Given the description of an element on the screen output the (x, y) to click on. 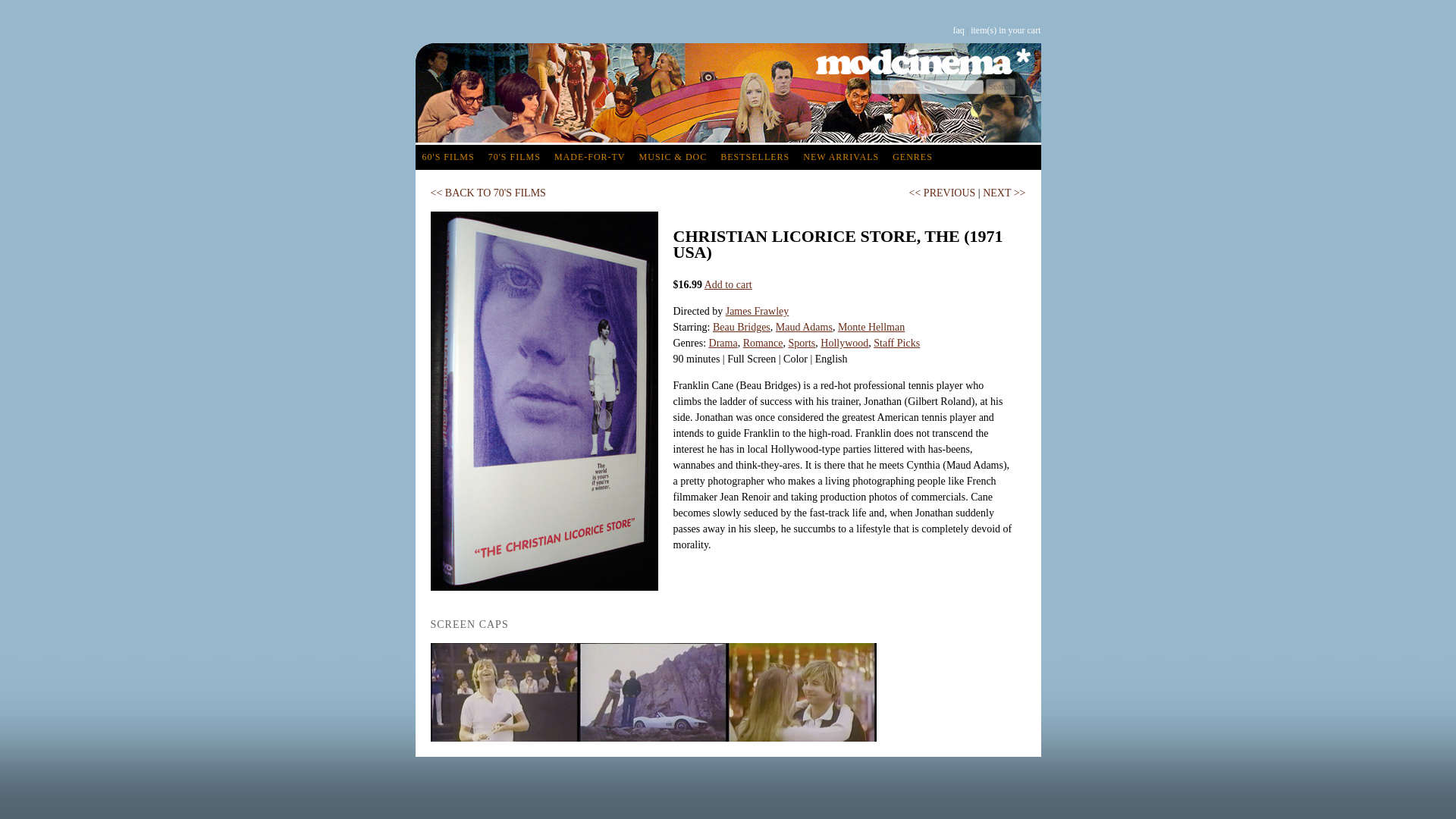
70'S FILMS (514, 156)
Search (999, 86)
NEW ARRIVALS (840, 156)
James Frawley (757, 310)
Drama (723, 342)
Staff Picks (896, 342)
Hollywood (844, 342)
Monte Hellman (871, 326)
Search (999, 86)
Beau Bridges (741, 326)
faq (957, 30)
Romance (762, 342)
Sports (802, 342)
Maud Adams (804, 326)
60'S FILMS (447, 156)
